Given the description of an element on the screen output the (x, y) to click on. 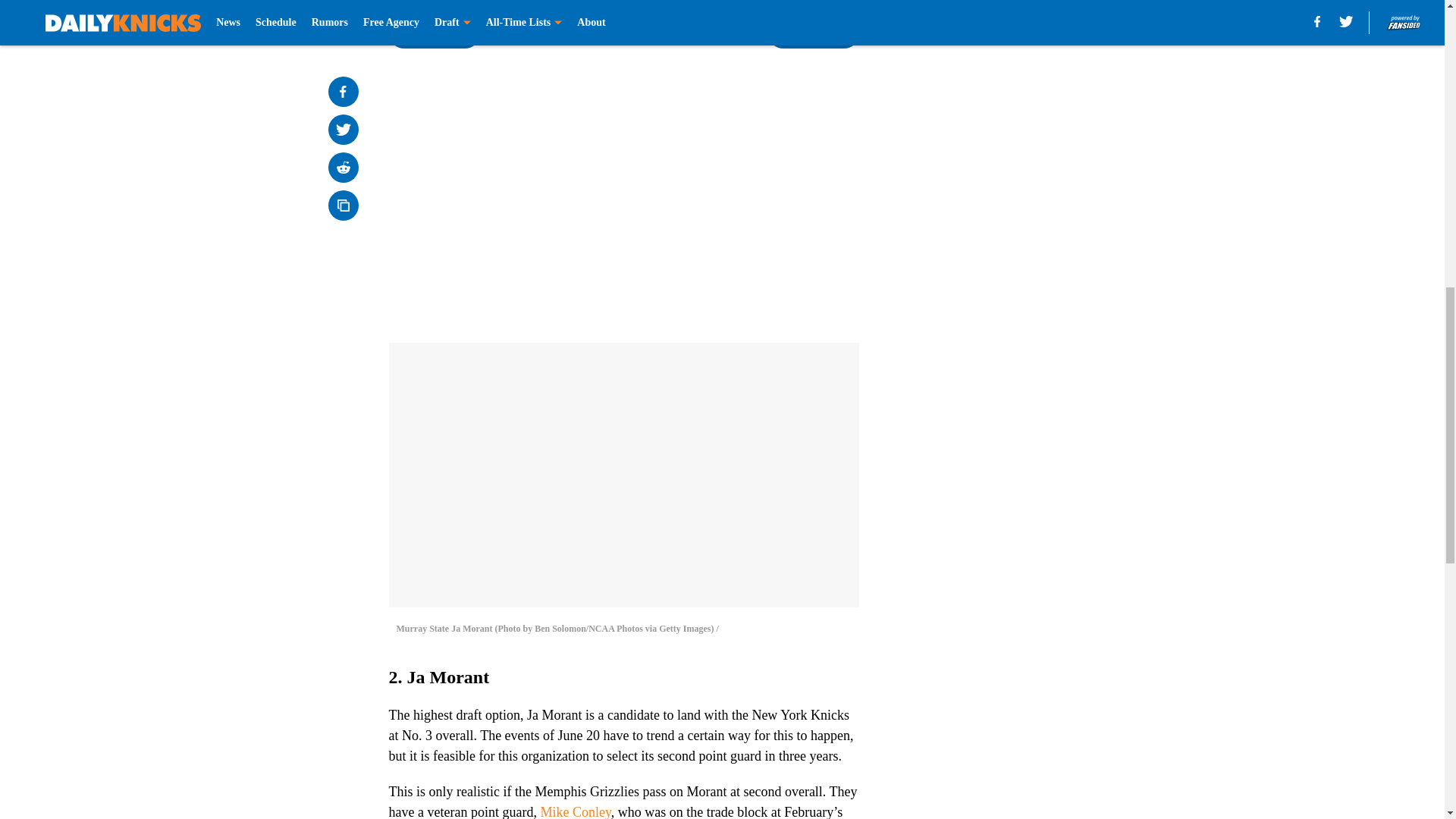
Next (813, 33)
Prev (433, 33)
Mike Conley (575, 811)
